Given the description of an element on the screen output the (x, y) to click on. 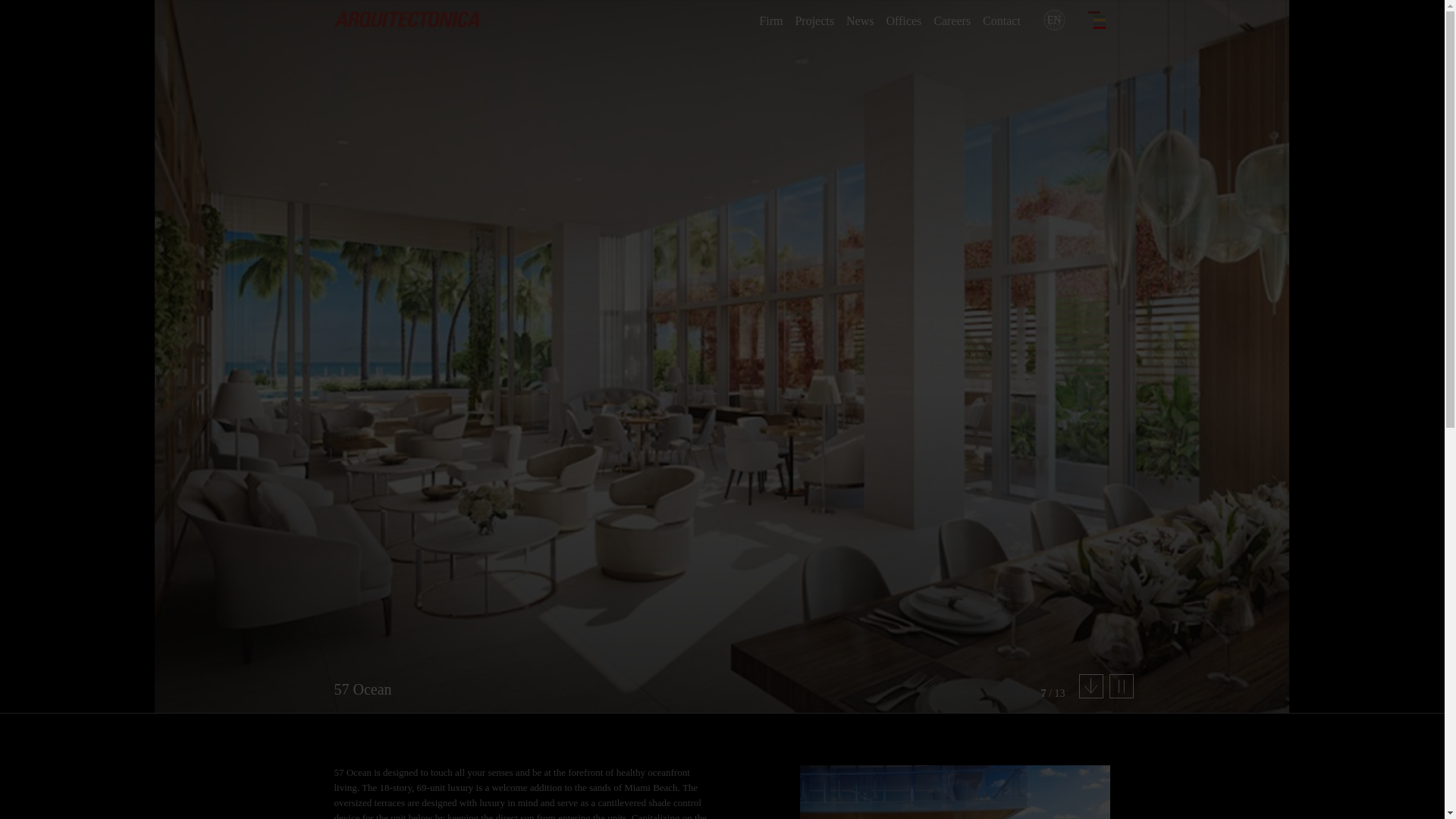
Firm (770, 20)
News (859, 20)
Careers (952, 20)
Contact (1001, 20)
EN (1054, 18)
Offices (903, 20)
Global Switch (1054, 18)
Projects (814, 20)
